Given the description of an element on the screen output the (x, y) to click on. 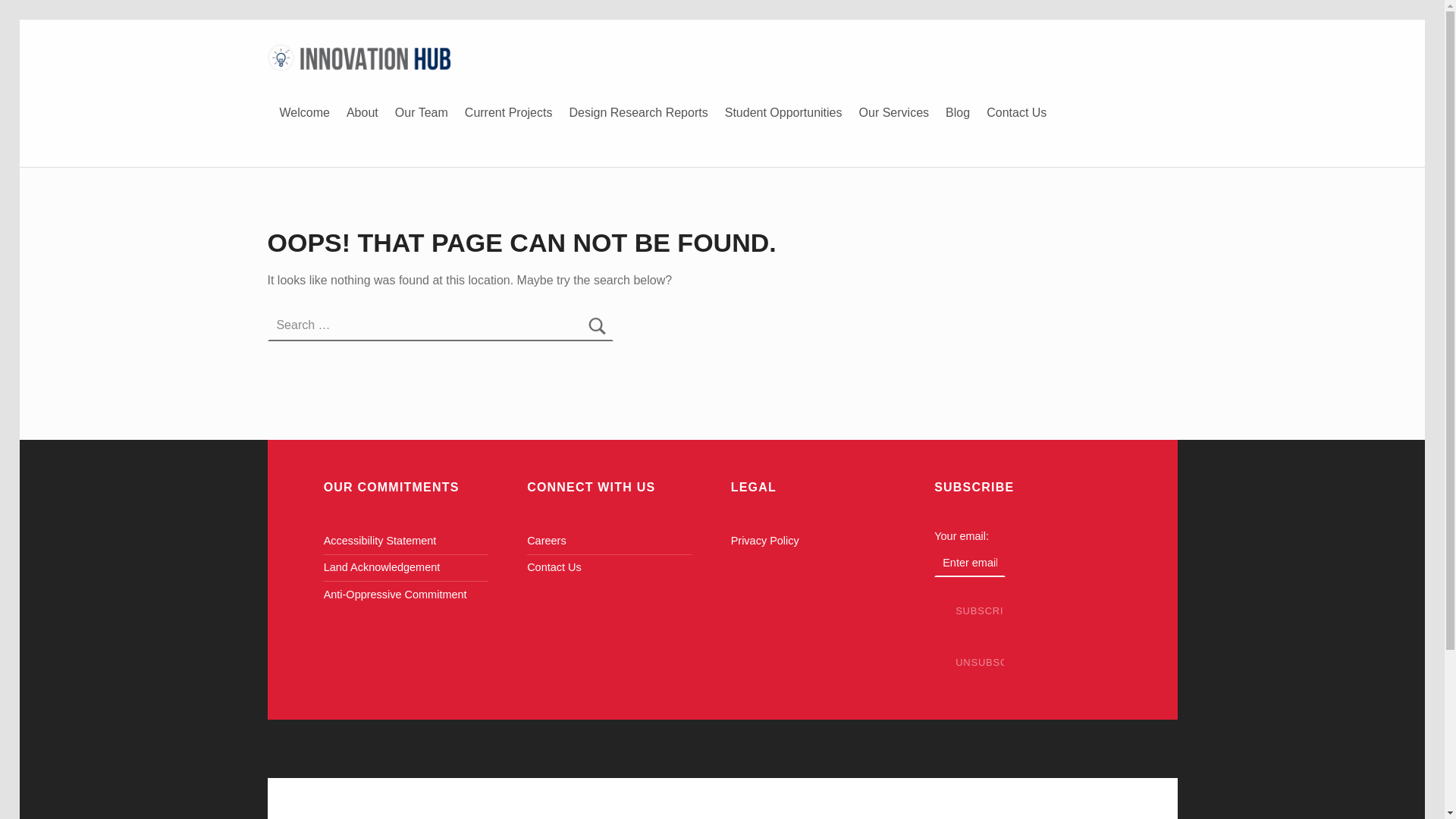
Accessibility Statement (379, 540)
Welcome (304, 112)
Current Projects (508, 112)
Subscribe (970, 611)
Unsubscribe (970, 663)
Privacy Policy (764, 540)
Student Opportunities (783, 112)
Enter email address... (970, 562)
Search (596, 325)
